Given the description of an element on the screen output the (x, y) to click on. 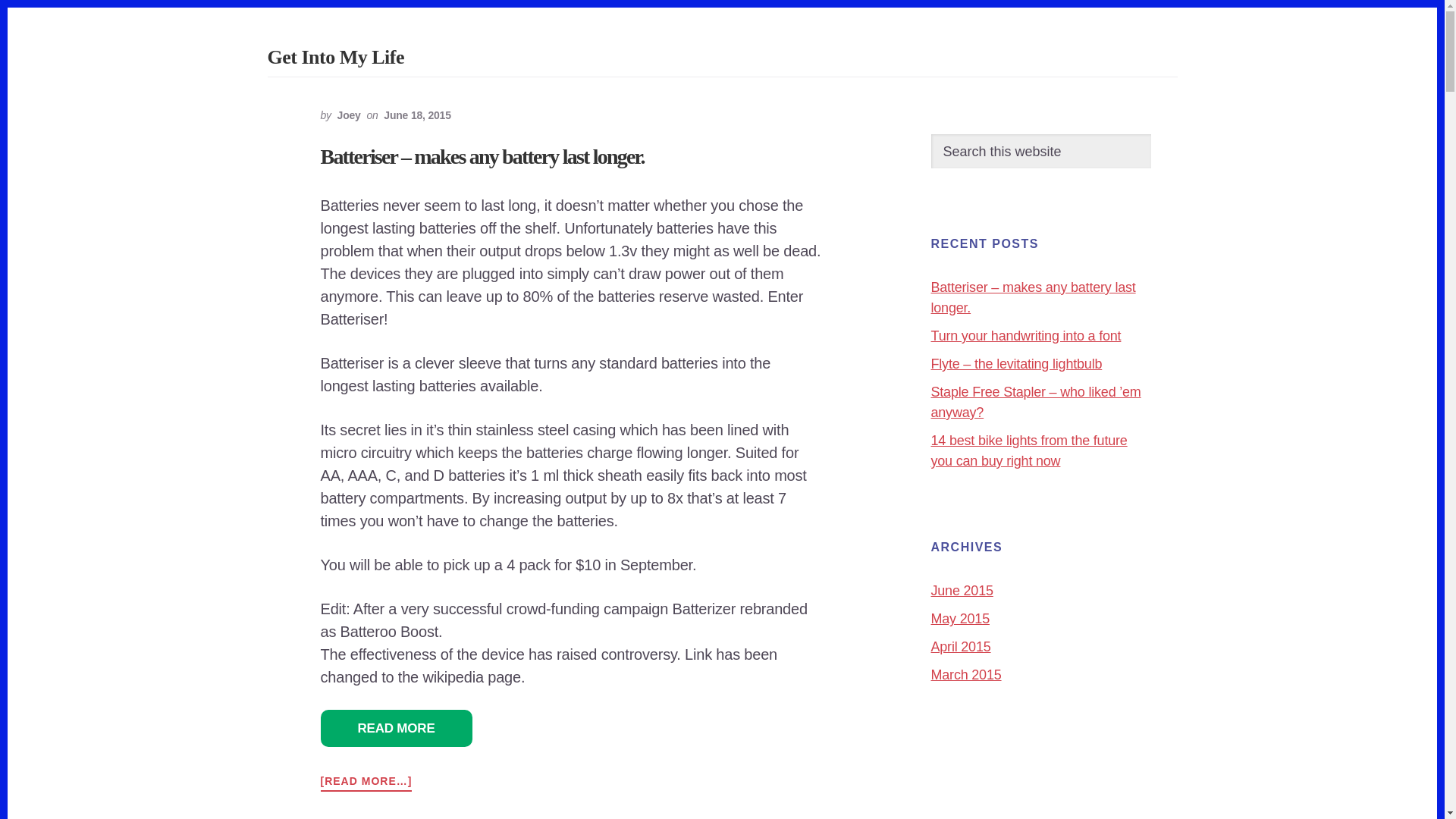
Joey (349, 114)
Get Into My Life (334, 56)
READ MORE (395, 728)
